Given the description of an element on the screen output the (x, y) to click on. 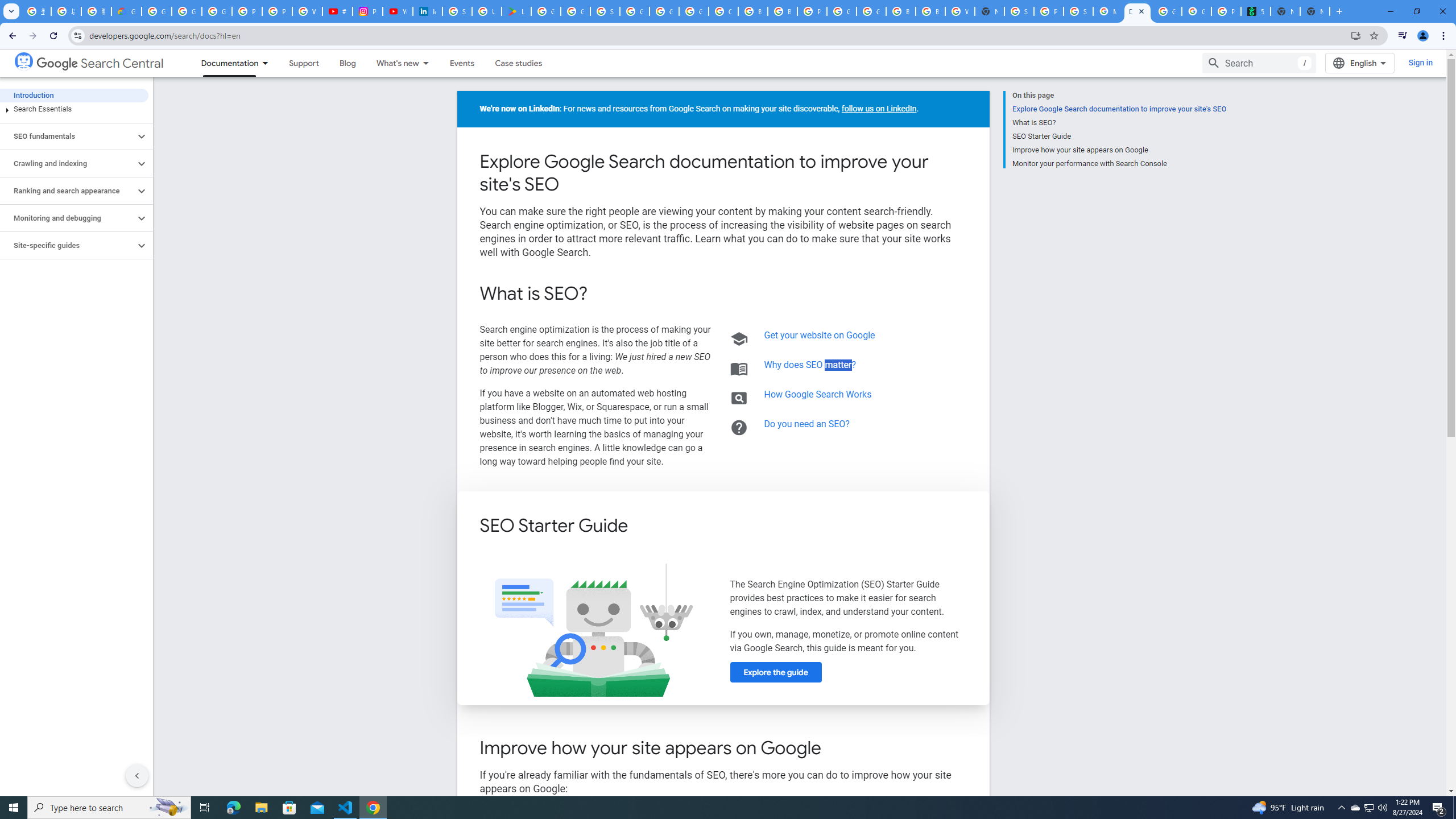
SEO Starter Guide (1118, 136)
Explore the guide (775, 671)
Google Search Central (99, 63)
